Given the description of an element on the screen output the (x, y) to click on. 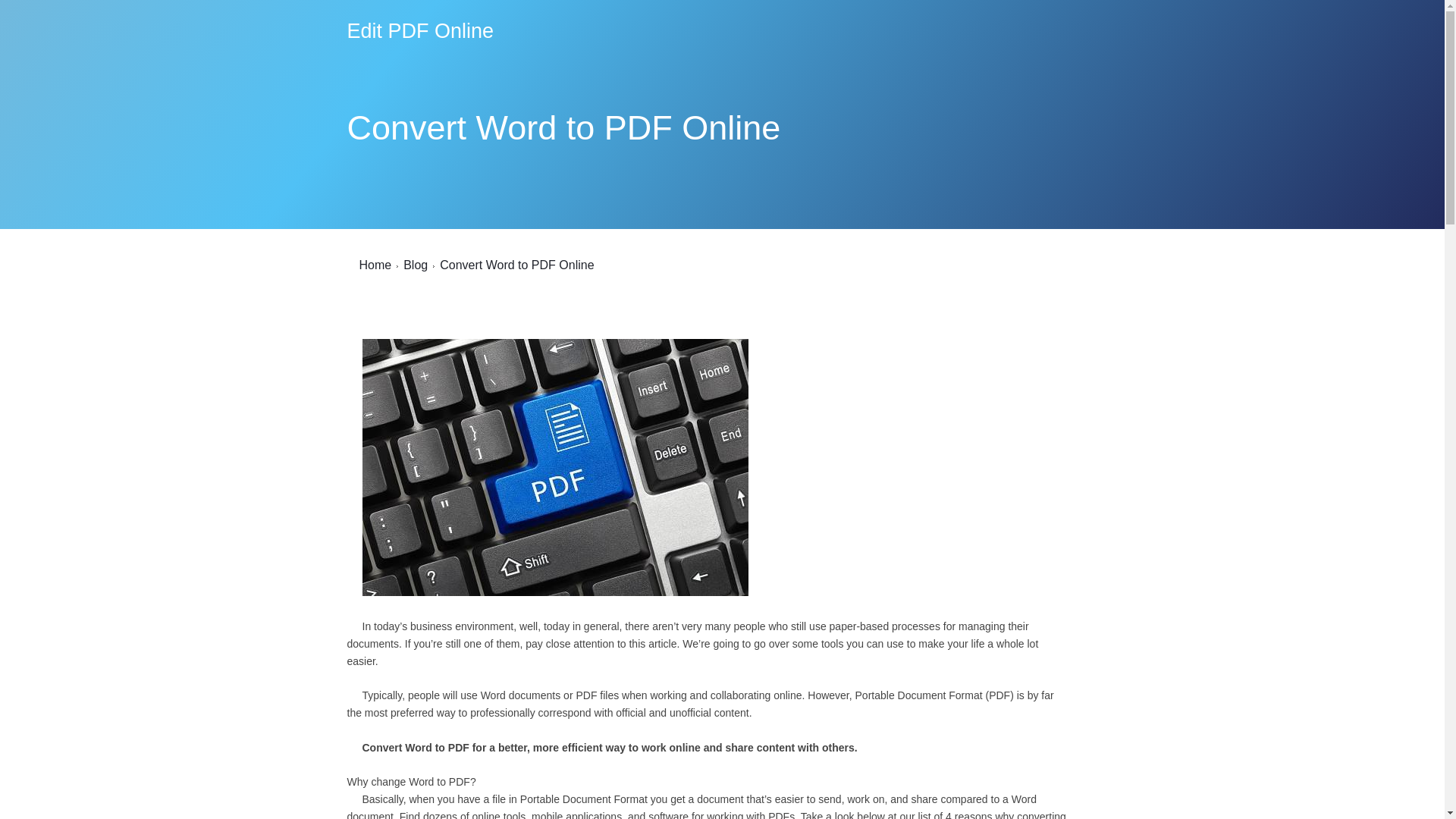
Blog (415, 265)
Home (375, 265)
Edit PDF Online (421, 31)
